Given the description of an element on the screen output the (x, y) to click on. 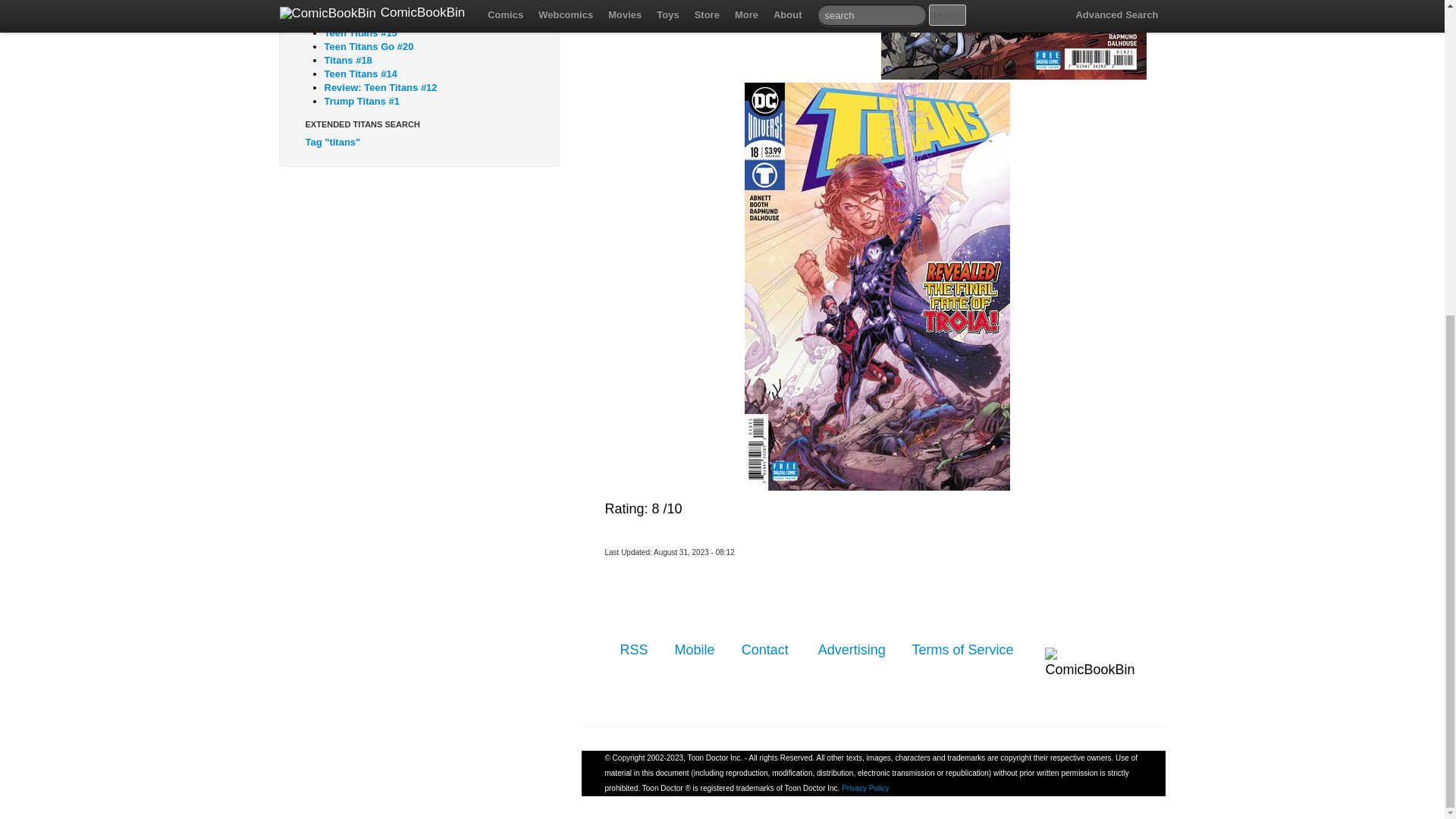
RSS (633, 649)
Terms of Service (962, 649)
Contact (766, 649)
Advertising (851, 649)
Mobile (694, 649)
